Given the description of an element on the screen output the (x, y) to click on. 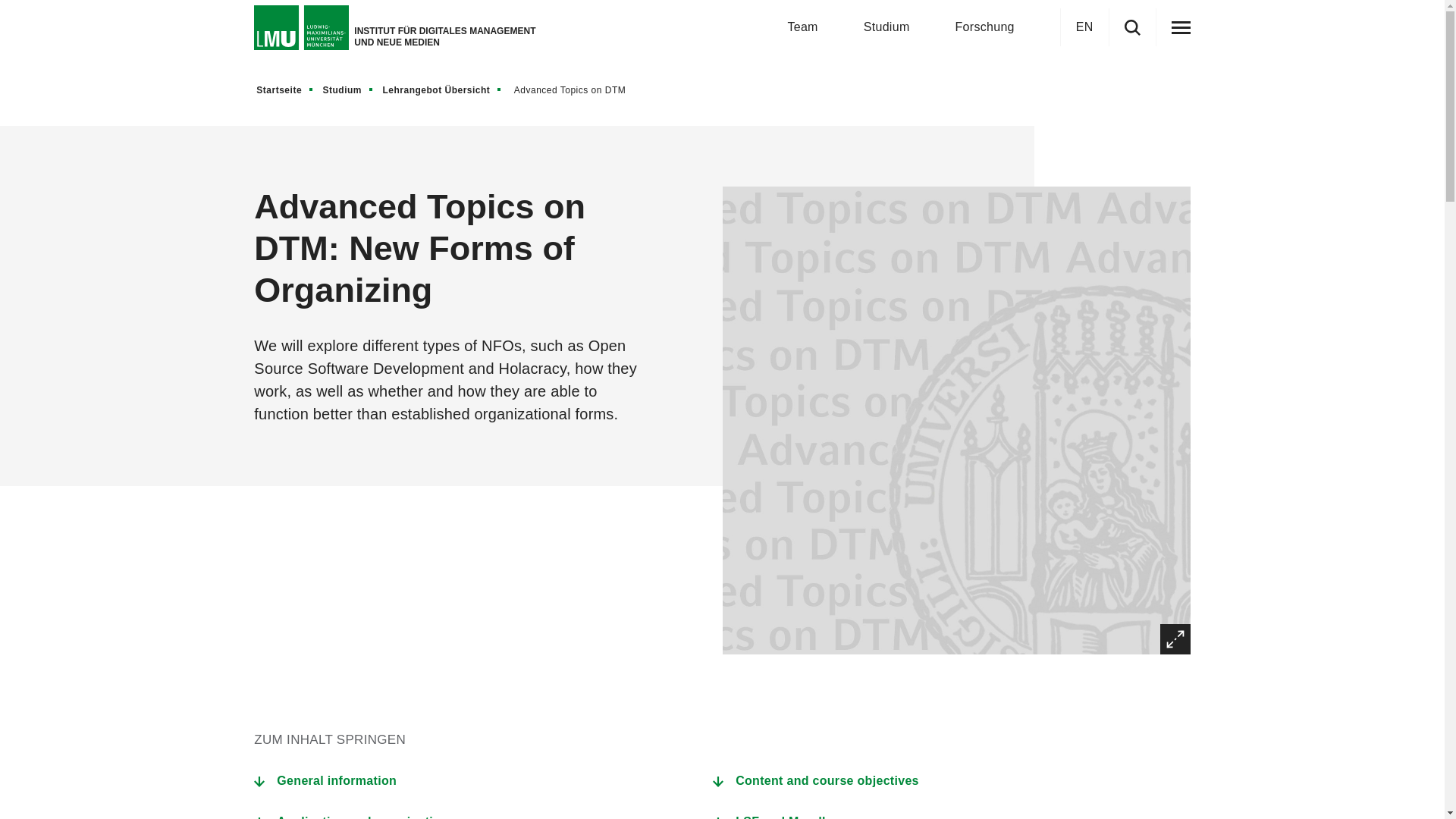
Startseite (285, 90)
Team (801, 26)
General information (336, 780)
Studium (349, 90)
Springe zu: Content and course objectives (827, 780)
LSF and Moodle (784, 810)
Startseite (285, 90)
Startseite (285, 90)
Studium (348, 90)
Content and course objectives (827, 780)
Studium (349, 90)
Studium (349, 90)
Application and examination (361, 810)
Sie sind hier:Advanced Topics on DTM (574, 90)
Forschung (984, 26)
